Given the description of an element on the screen output the (x, y) to click on. 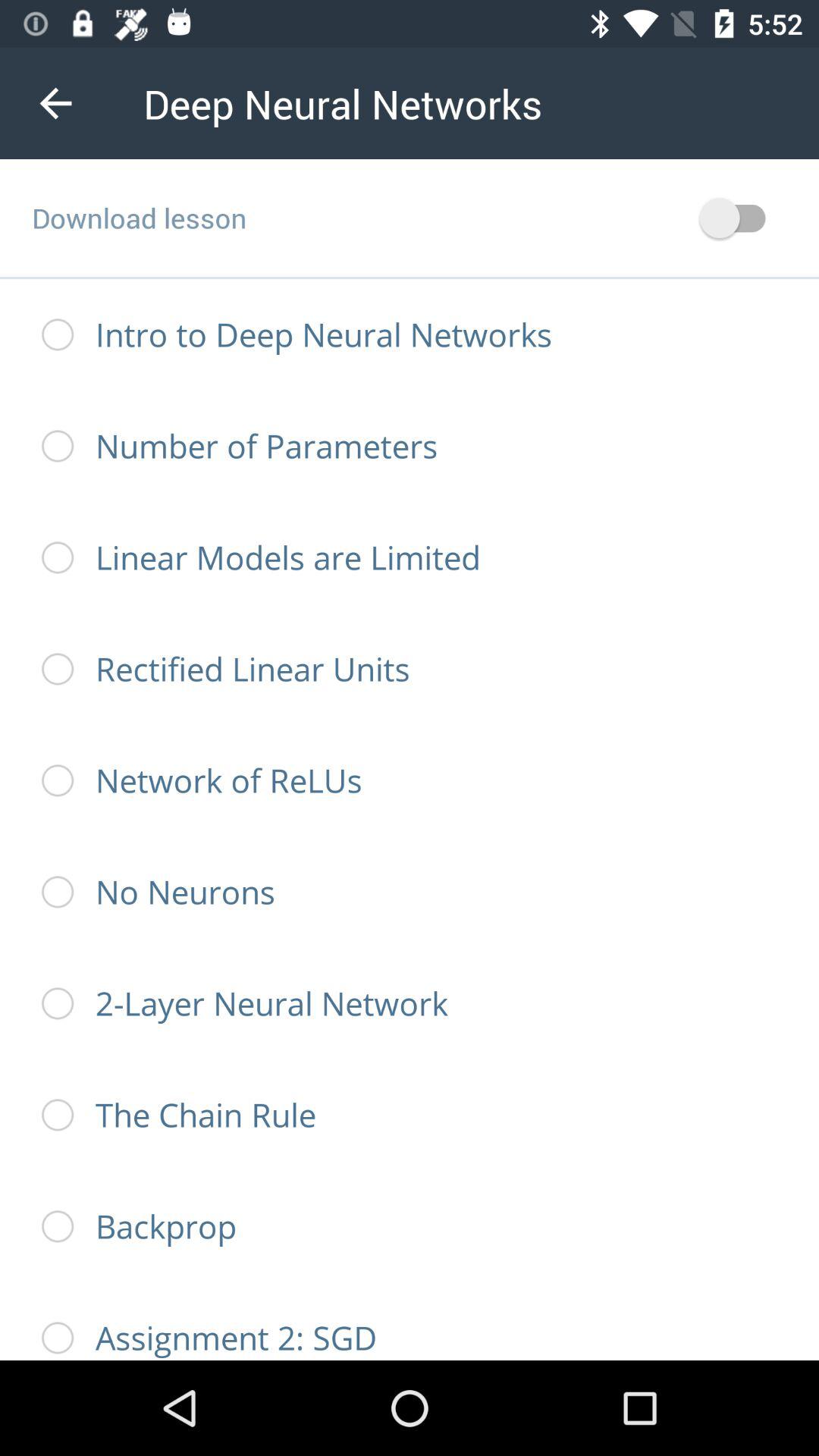
click the icon next to the deep neural networks item (55, 103)
